Given the description of an element on the screen output the (x, y) to click on. 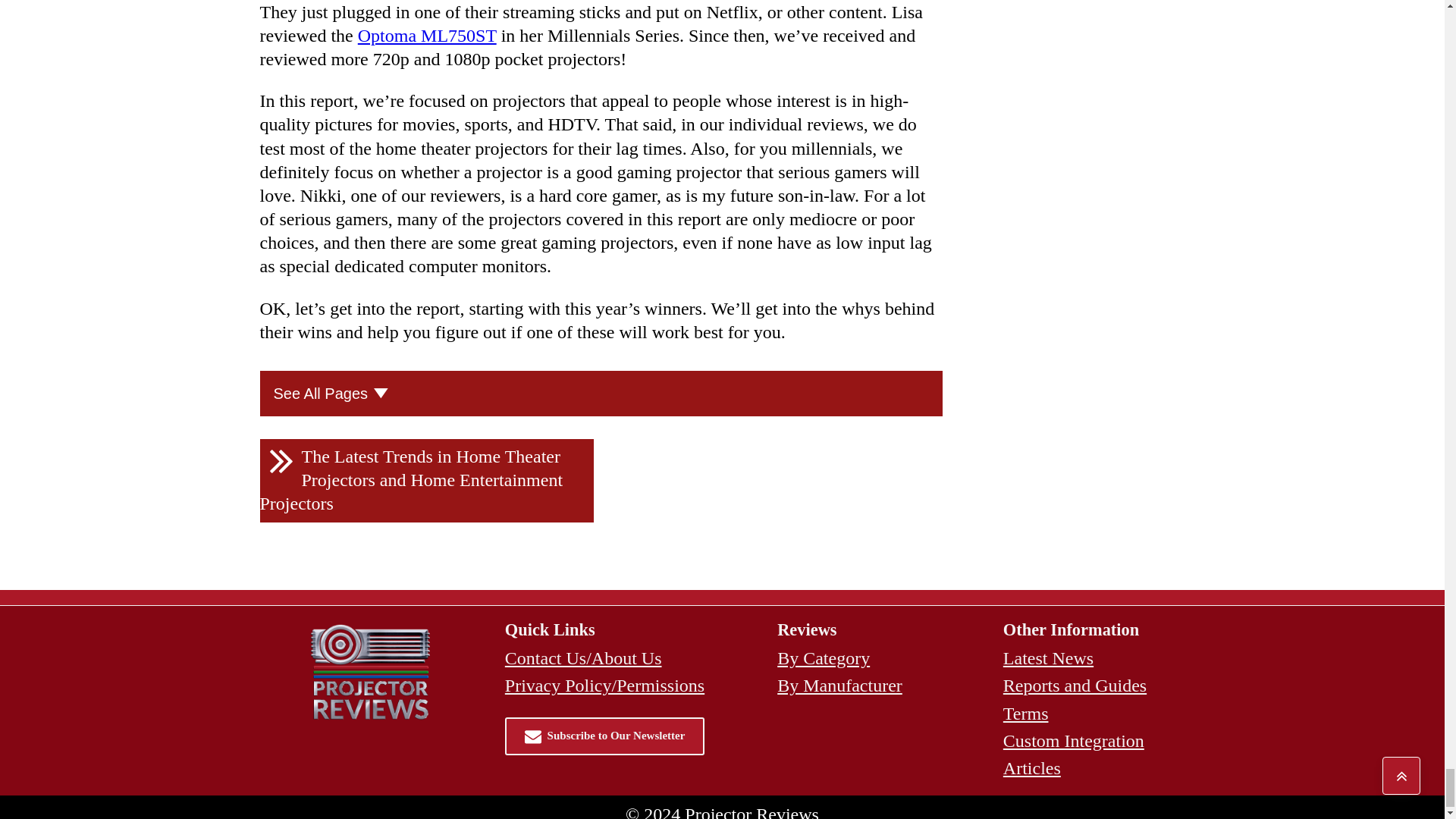
next (425, 480)
